Given the description of an element on the screen output the (x, y) to click on. 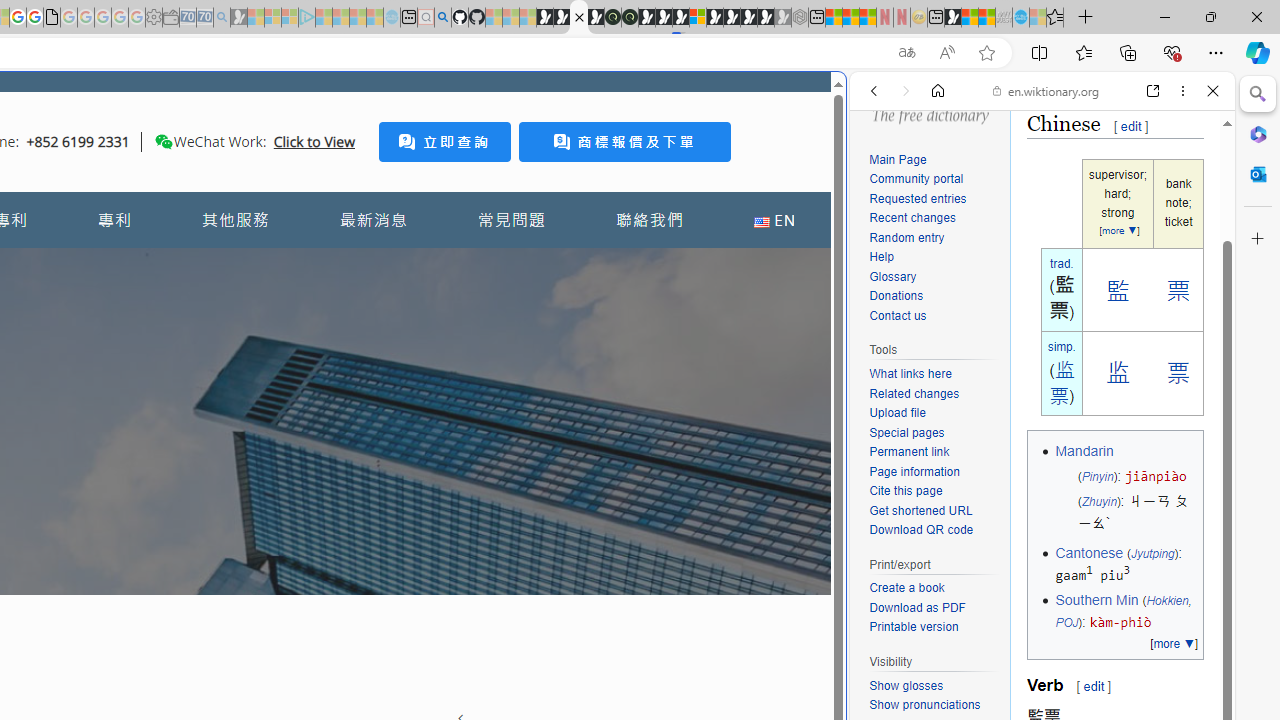
Page information (934, 472)
Help (881, 256)
Global web icon (888, 669)
Wallet - Sleeping (170, 17)
simp. (1061, 346)
EN (774, 220)
Create a book (934, 588)
Search the web (1051, 137)
Settings - Sleeping (153, 17)
